Given the description of an element on the screen output the (x, y) to click on. 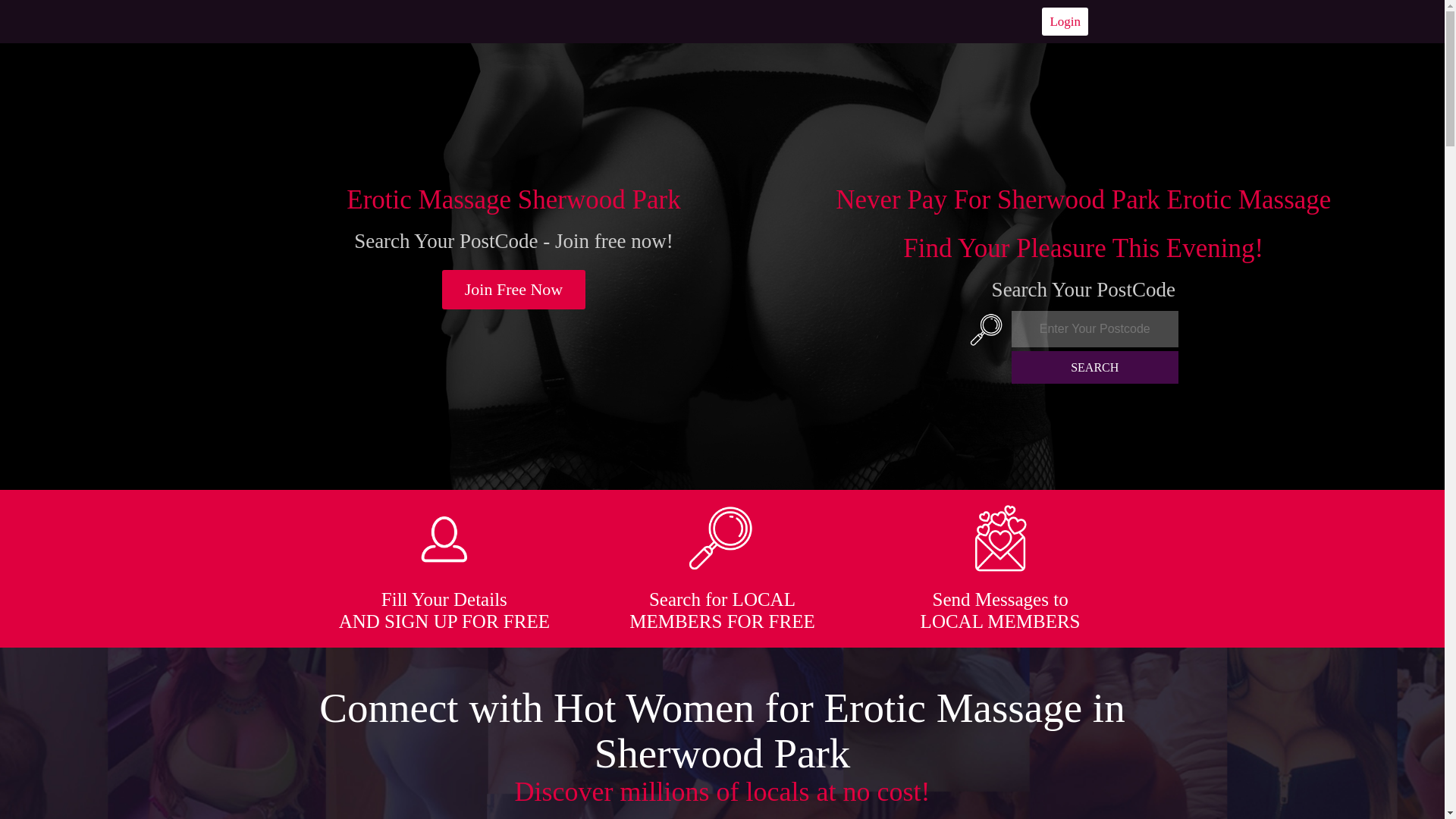
Login (1064, 21)
Join Free Now (514, 289)
SEARCH (1094, 367)
Login (1064, 21)
Join (514, 289)
